Given the description of an element on the screen output the (x, y) to click on. 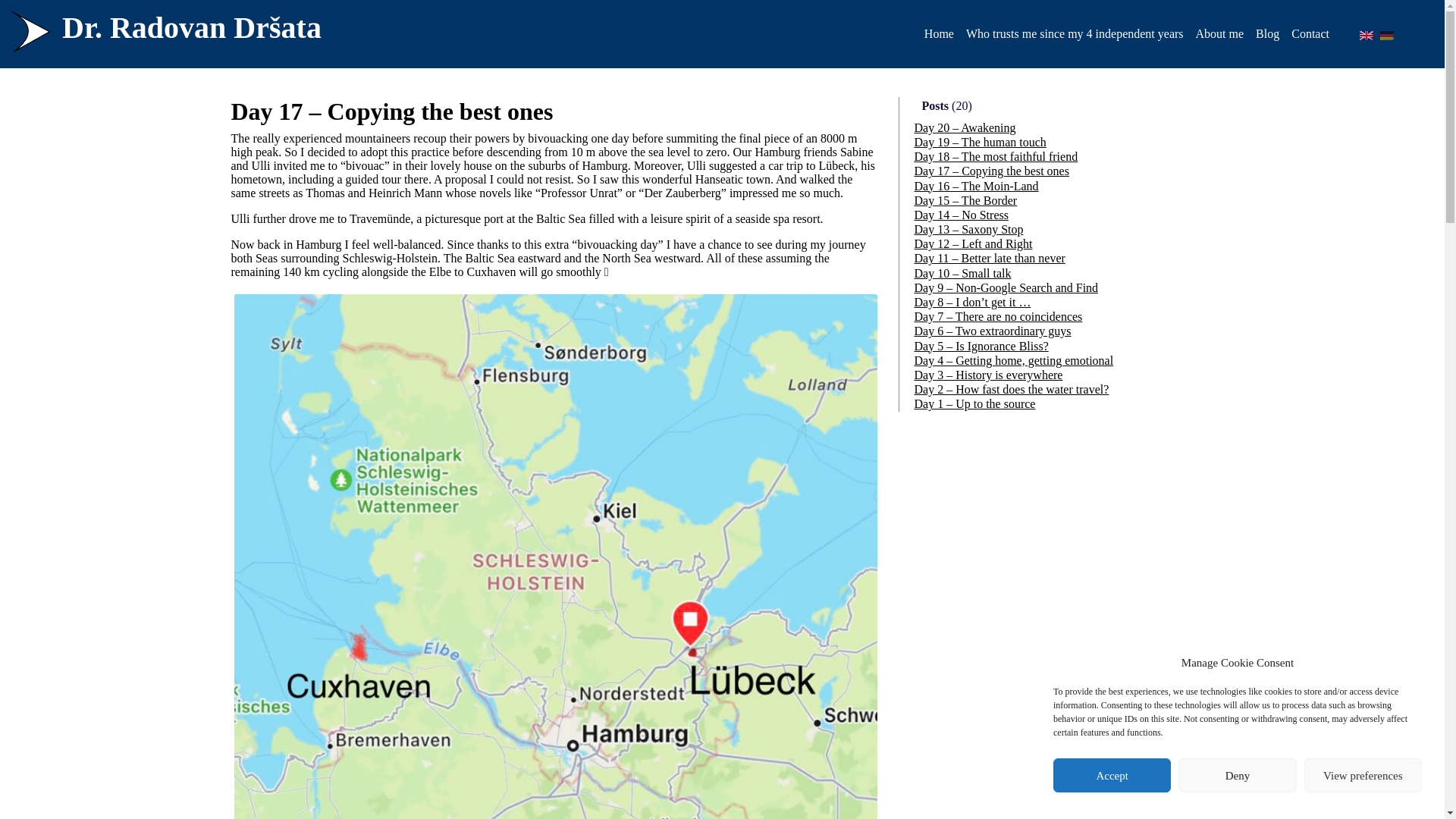
Who trusts me since my 4 independent years (1074, 33)
Deny (1236, 775)
Accept (1111, 775)
Contact (1310, 33)
About me (1219, 33)
Blog (1267, 33)
Home (938, 33)
View preferences (1363, 775)
